Given the description of an element on the screen output the (x, y) to click on. 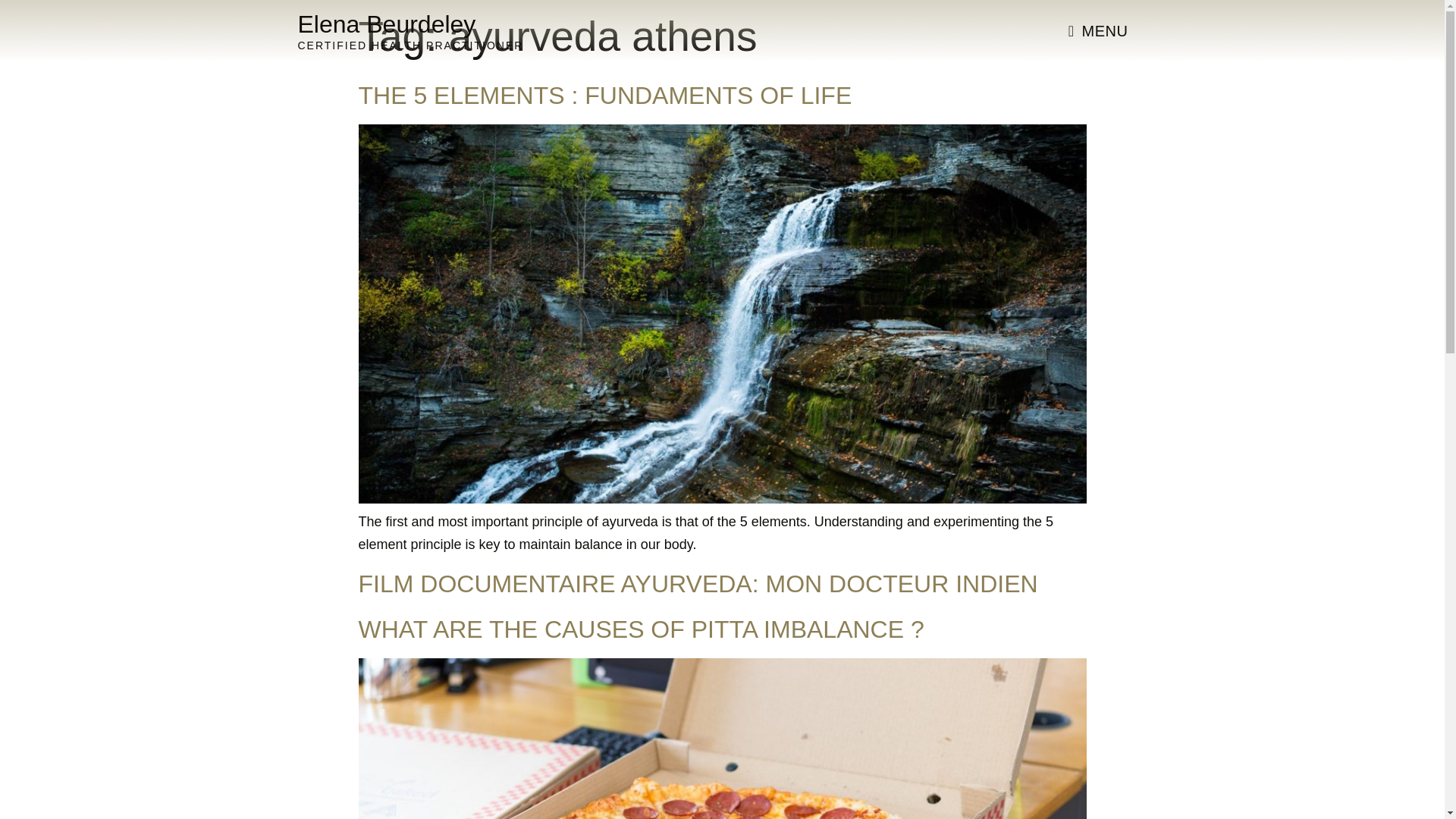
FILM DOCUMENTAIRE AYURVEDA: MON DOCTEUR INDIEN (697, 583)
THE 5 ELEMENTS : FUNDAMENTS OF LIFE (604, 94)
Elena Beurdeley (386, 23)
CERTIFIED HEALTH PRACTITIONER (409, 45)
MENU (1098, 30)
WHAT ARE THE CAUSES OF PITTA IMBALANCE ? (640, 628)
